Given the description of an element on the screen output the (x, y) to click on. 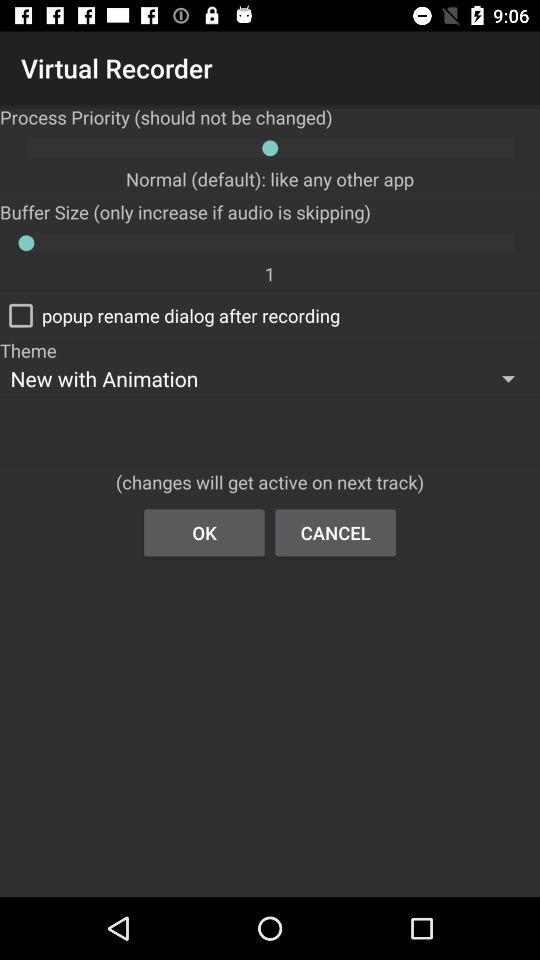
choose the button next to the cancel button (204, 532)
